Given the description of an element on the screen output the (x, y) to click on. 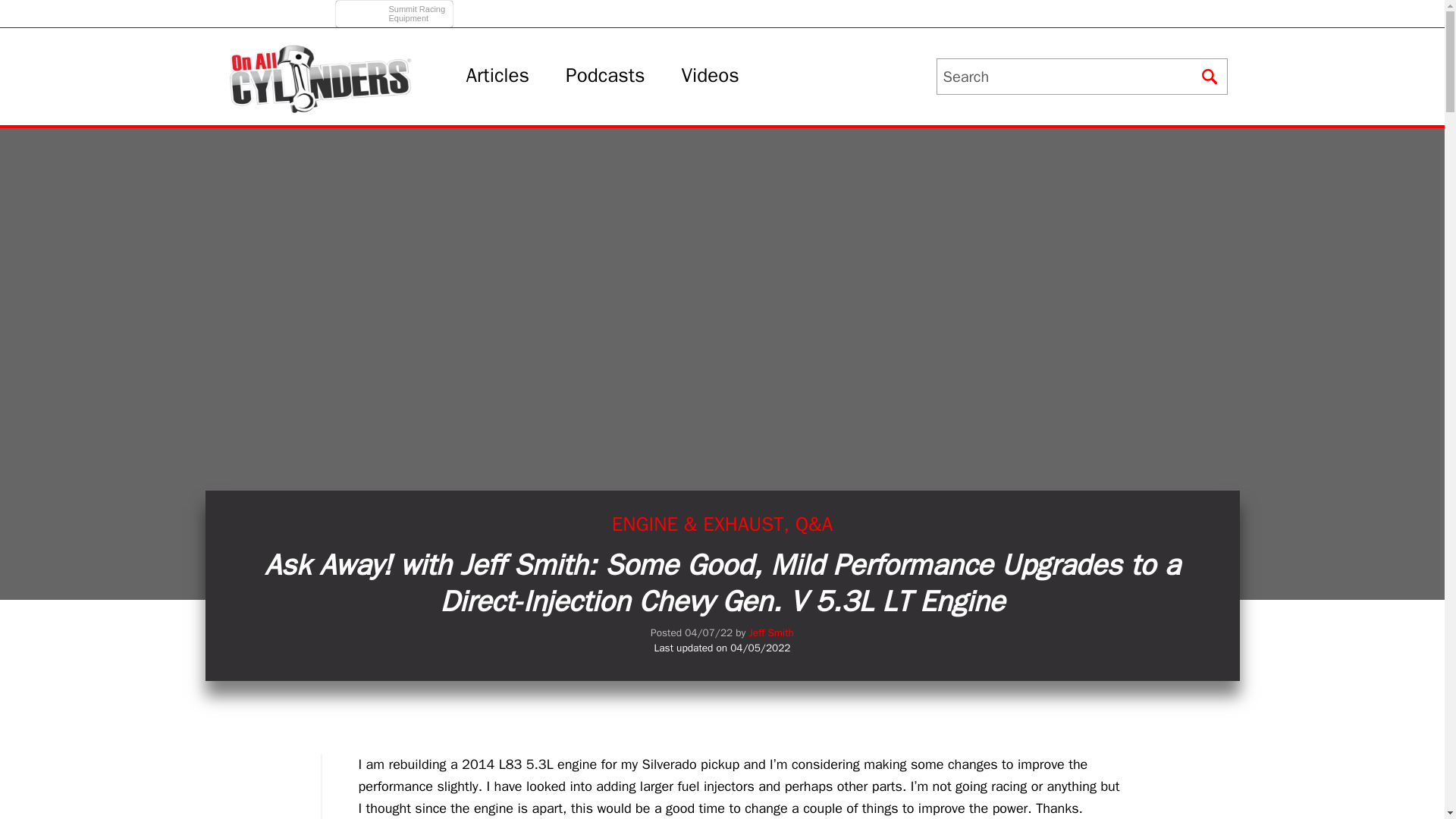
Videos (709, 76)
Articles (395, 9)
Podcasts (497, 76)
